Given the description of an element on the screen output the (x, y) to click on. 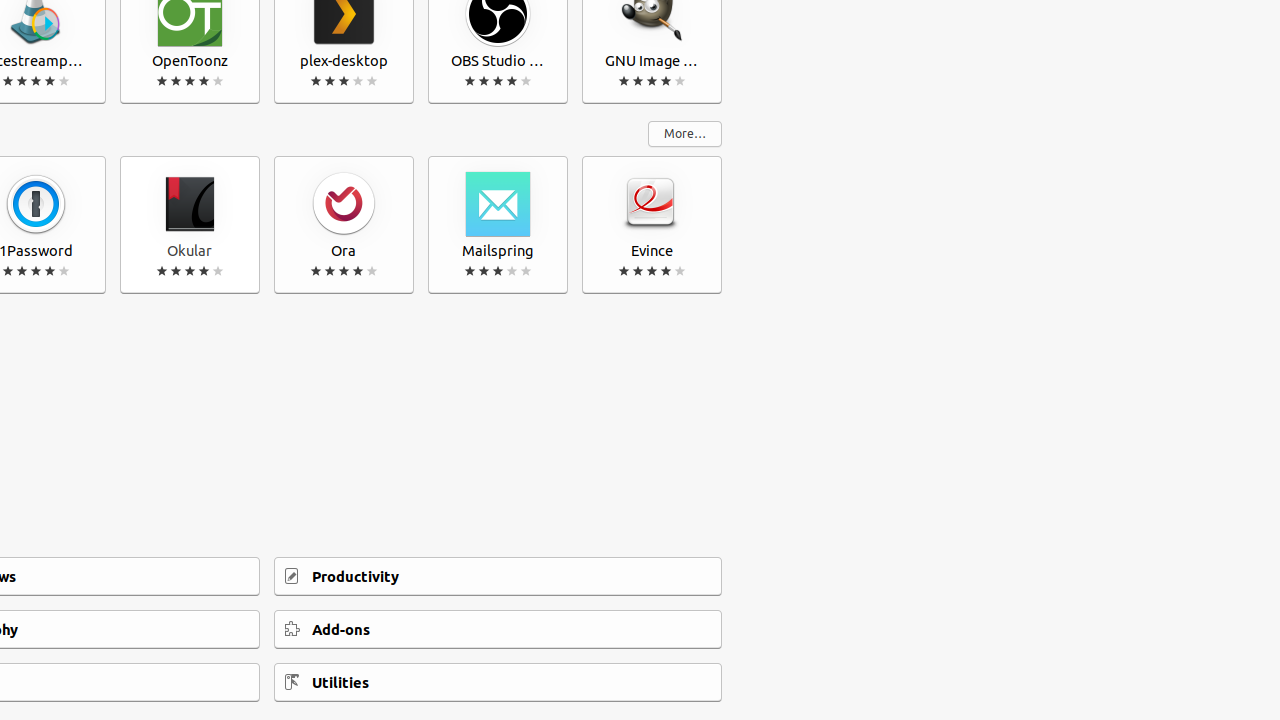
Utilities Element type: push-button (498, 682)
Okular Element type: push-button (190, 225)
Add-ons Element type: push-button (498, 629)
Evince Element type: push-button (652, 225)
Ora Element type: push-button (344, 225)
